Given the description of an element on the screen output the (x, y) to click on. 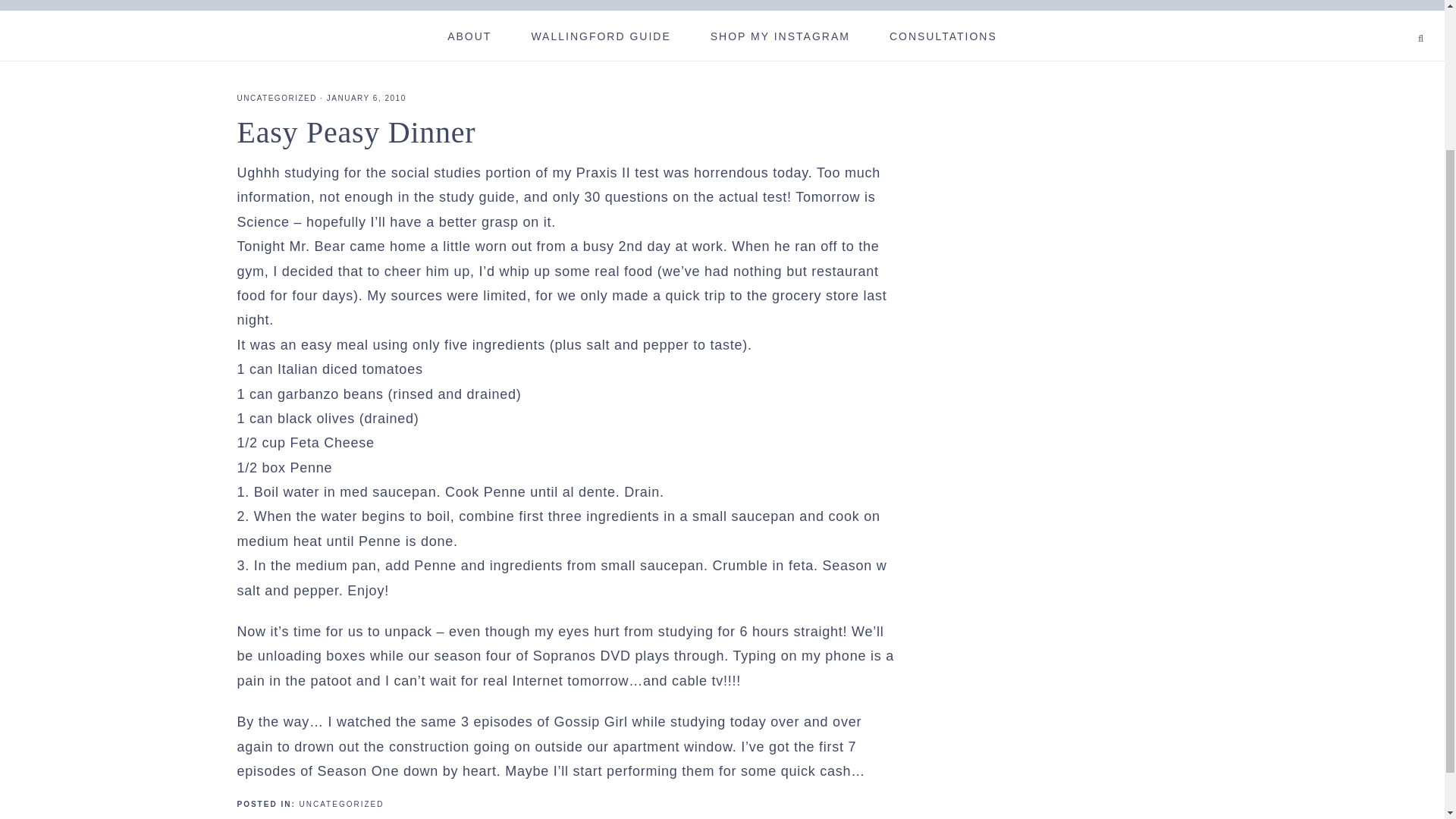
TRAVEL (552, 35)
OUR HOME (741, 35)
STYLE (904, 35)
UNCATEGORIZED (275, 98)
LIFE (830, 35)
GIFT GUIDES (1006, 35)
UNCATEGORIZED (341, 804)
HEALTH (640, 35)
MOTHERHOOD (441, 35)
